Given the description of an element on the screen output the (x, y) to click on. 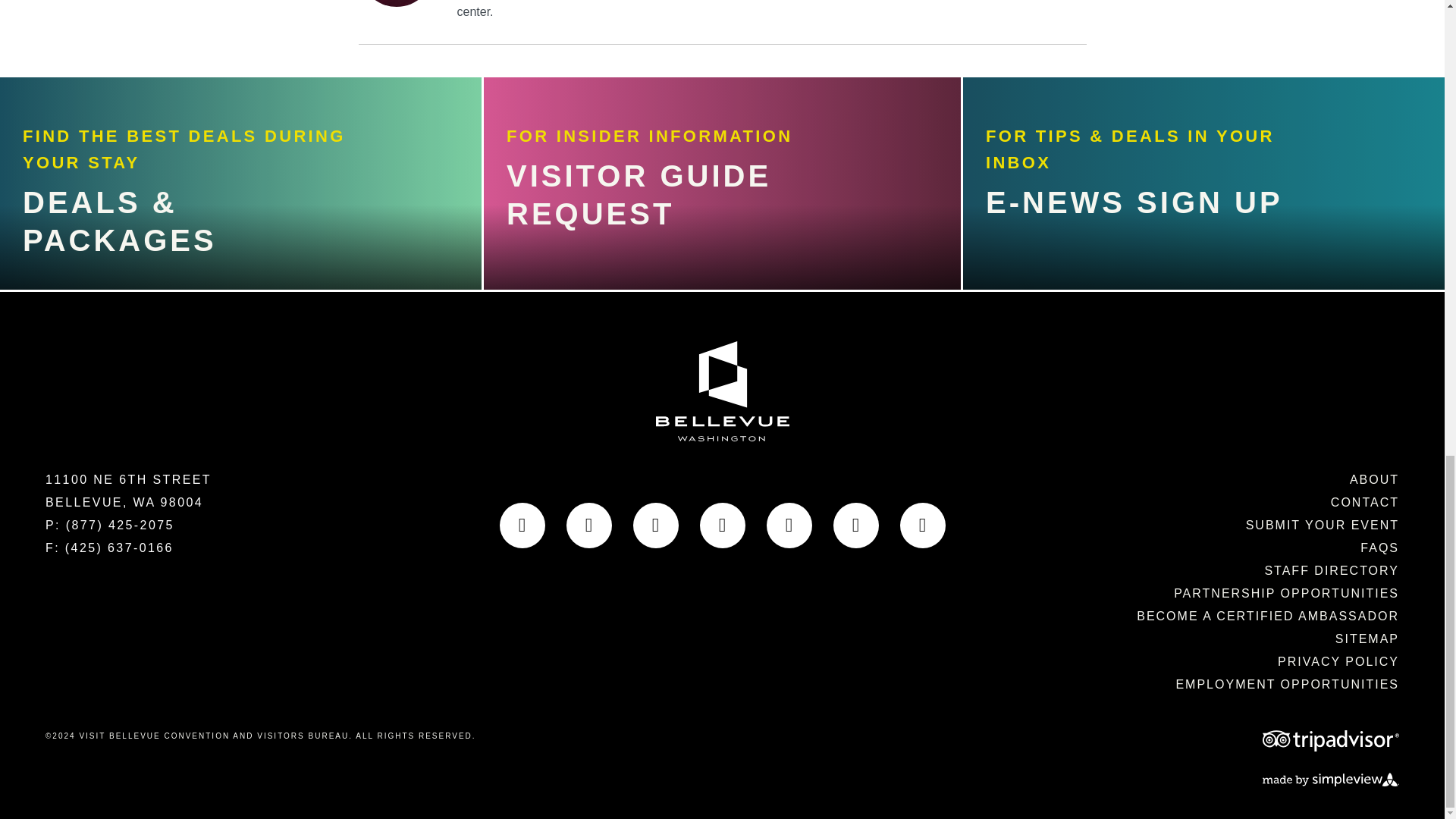
Hotels (139, 192)
THINGS TO DO (210, 25)
Restaurants (212, 135)
Things To Do (210, 25)
Plan (108, 249)
CRUISE TRAVEL (225, 305)
PLAN (108, 249)
Shopping (167, 78)
HOTELS (139, 192)
RESTAURANTS (212, 135)
